Given the description of an element on the screen output the (x, y) to click on. 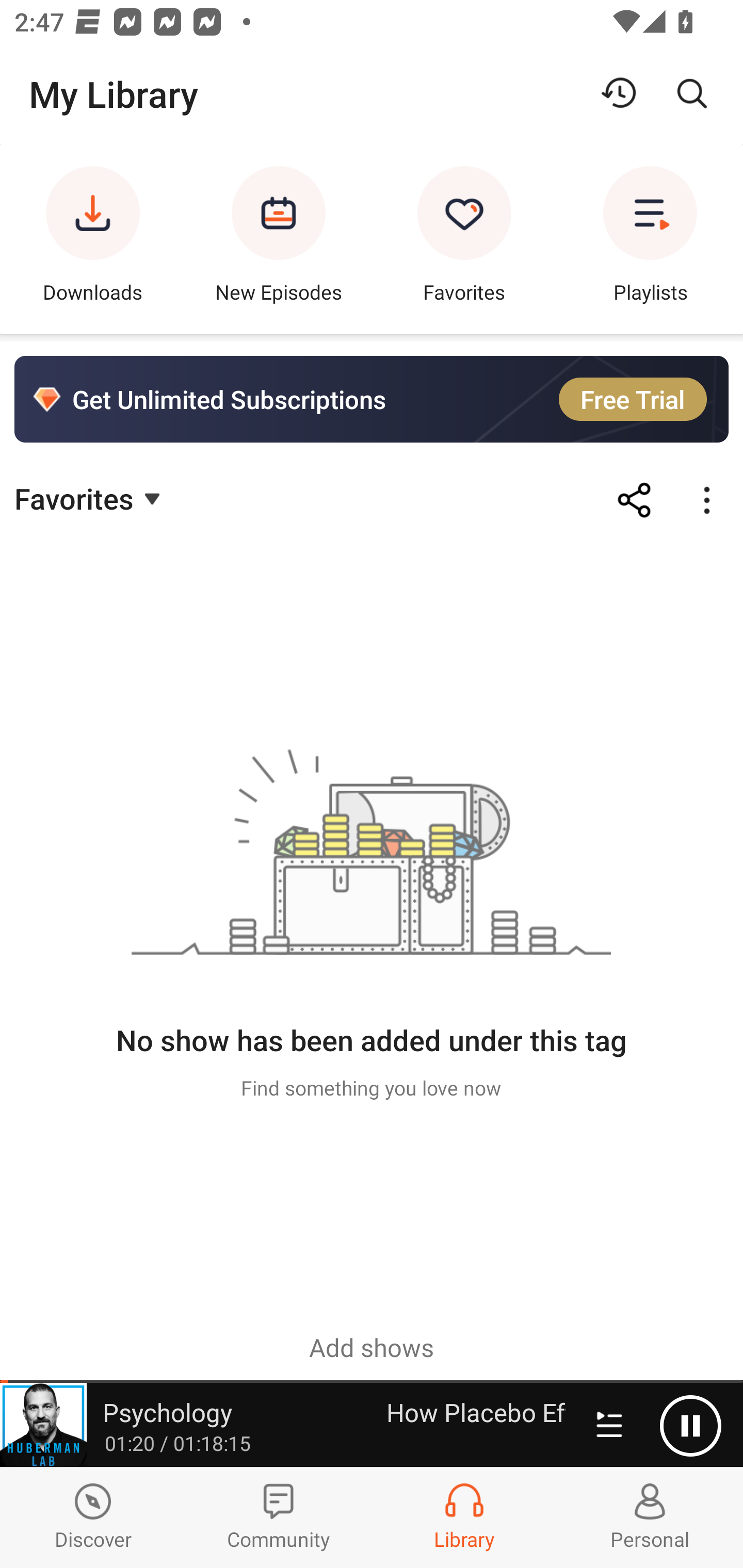
Downloads (92, 238)
New Episodes (278, 238)
Favorites (464, 238)
Playlists (650, 238)
Get Unlimited Subscriptions Free Trial (371, 398)
Free Trial (632, 398)
Favorites (90, 497)
Add shows (371, 1346)
Pause (690, 1425)
Discover (92, 1517)
Community (278, 1517)
Library (464, 1517)
Profiles and Settings Personal (650, 1517)
